Given the description of an element on the screen output the (x, y) to click on. 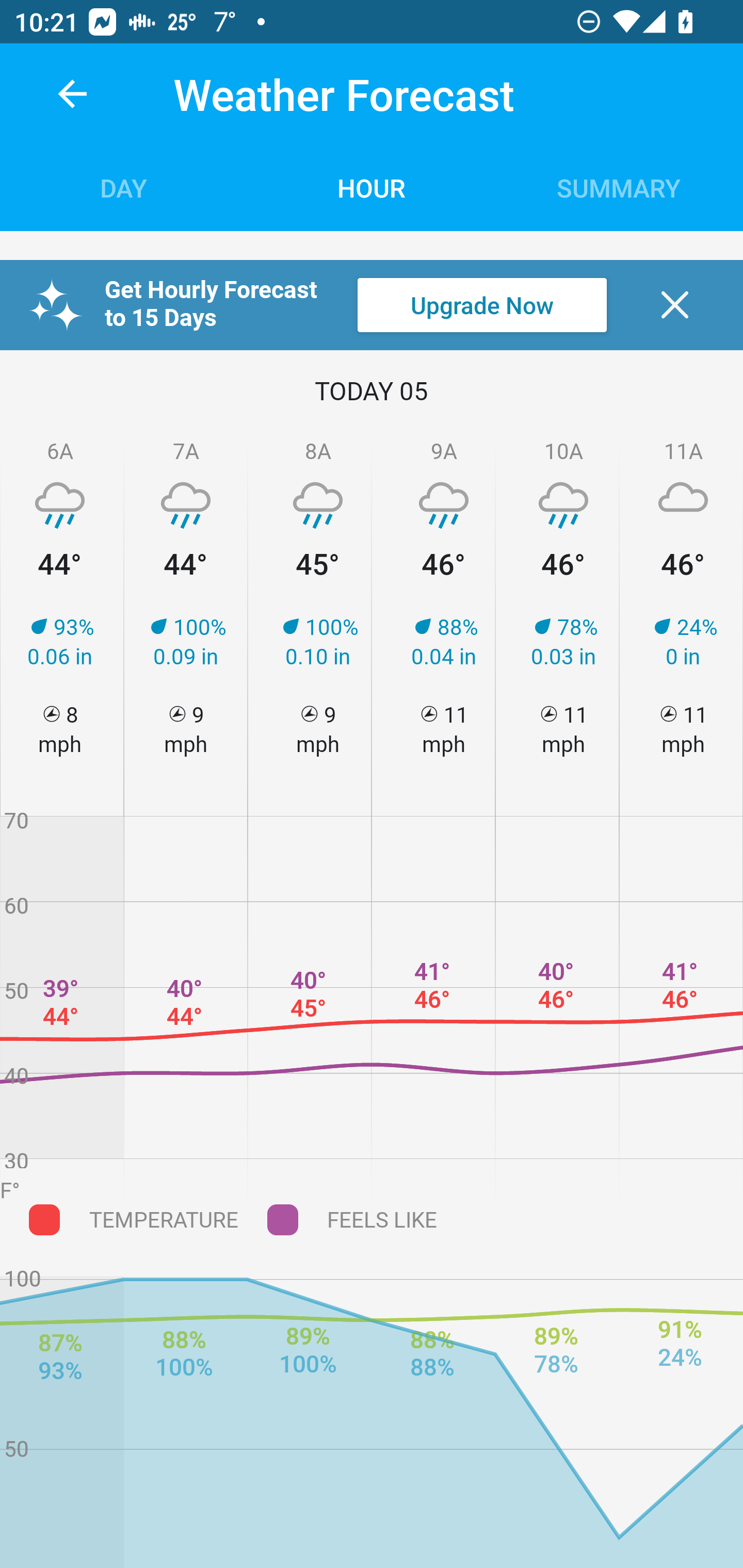
back (71, 93)
Day Tab DAY (123, 187)
Summary Tab SUMMARY (619, 187)
Upgrade Now (482, 304)
